Given the description of an element on the screen output the (x, y) to click on. 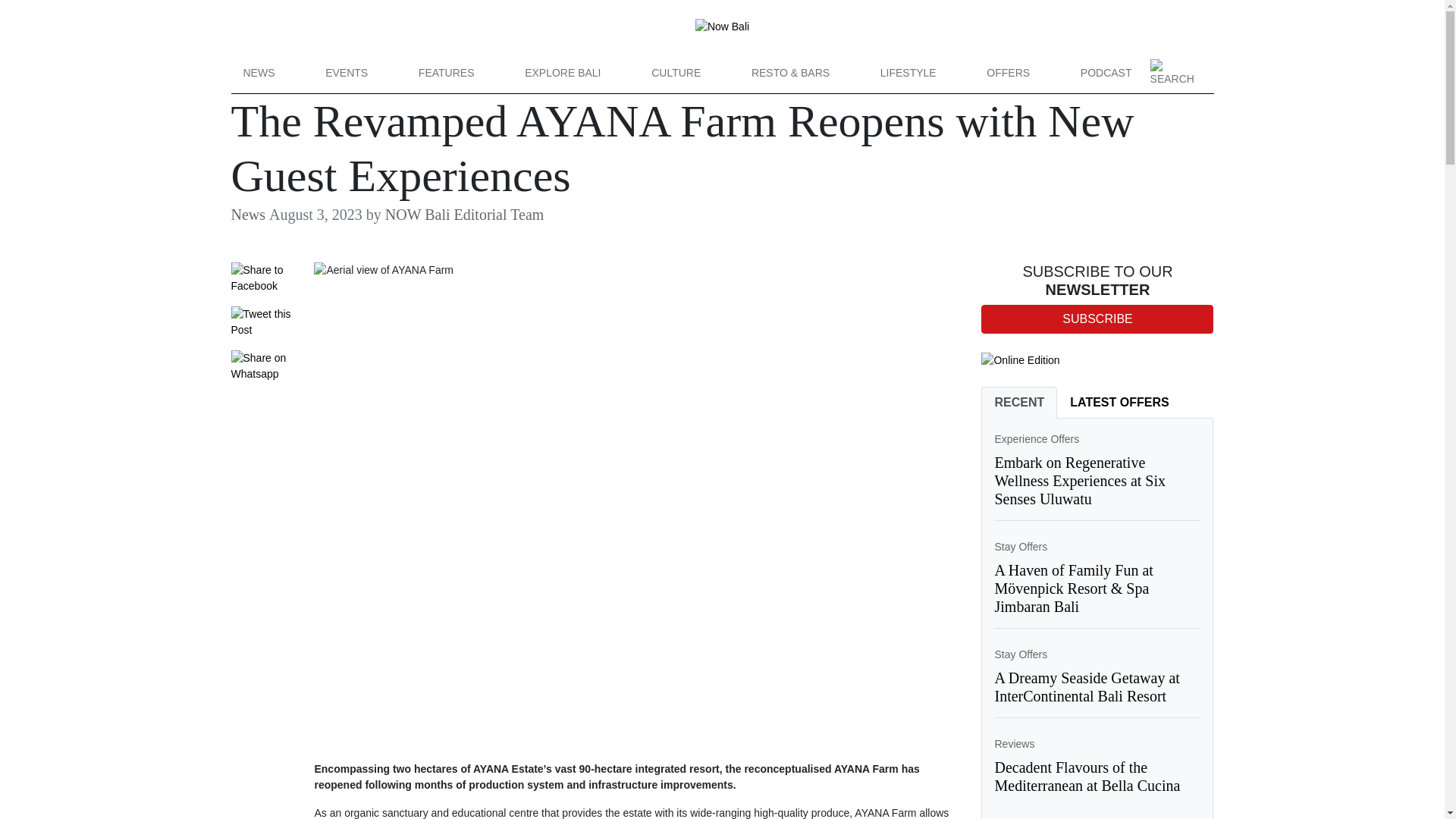
FEATURES (446, 72)
EXPLORE BALI (562, 72)
Stay Offers (1020, 654)
SUBSCRIBE (1096, 318)
News (247, 214)
LIFESTYLE (908, 72)
PODCAST (1106, 72)
LATEST OFFERS (1118, 402)
A Dreamy Seaside Getaway at InterContinental Bali Resort (1086, 686)
Stay Offers (1020, 546)
EVENTS (346, 72)
Experience Offers (1036, 439)
NEWS (258, 72)
CULTURE (676, 72)
